Given the description of an element on the screen output the (x, y) to click on. 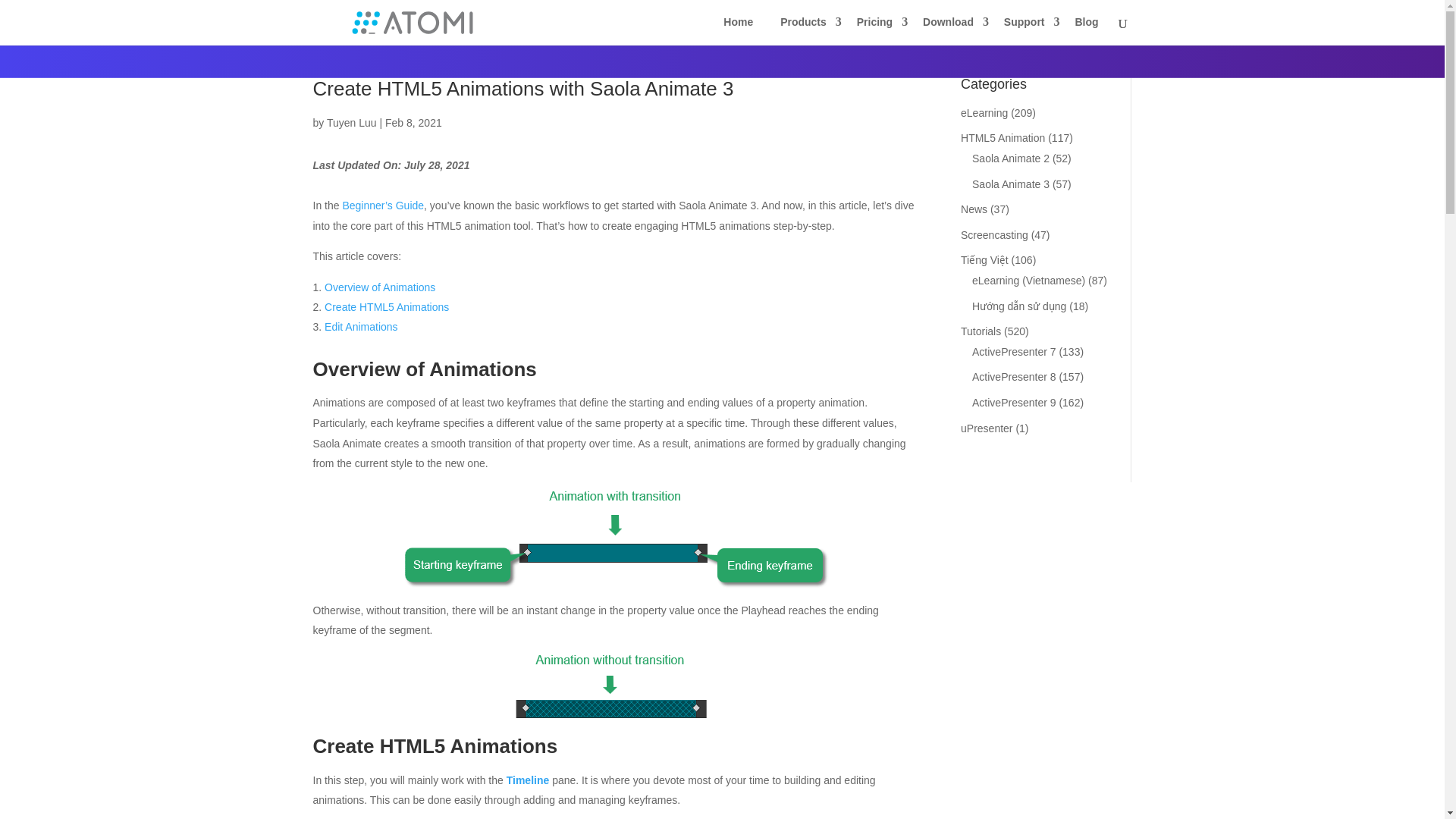
Blog (1085, 27)
Download (949, 27)
Home (738, 27)
Pricing (875, 27)
Support (1025, 27)
Products (804, 27)
Posts by Tuyen Luu (351, 122)
